Given the description of an element on the screen output the (x, y) to click on. 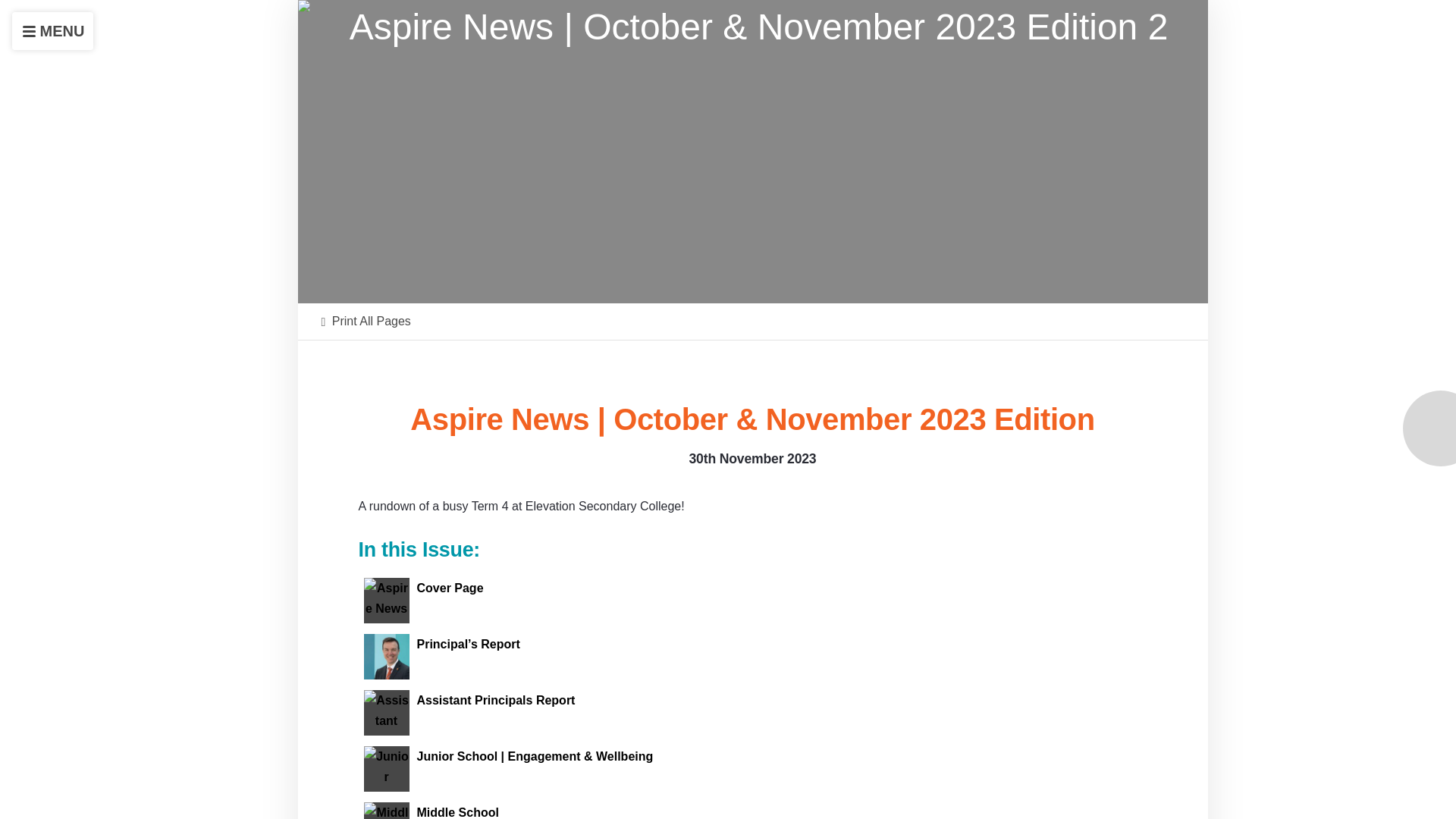
Print All Pages (365, 320)
Cover Page (741, 600)
Assistant Principals Report (741, 712)
